Given the description of an element on the screen output the (x, y) to click on. 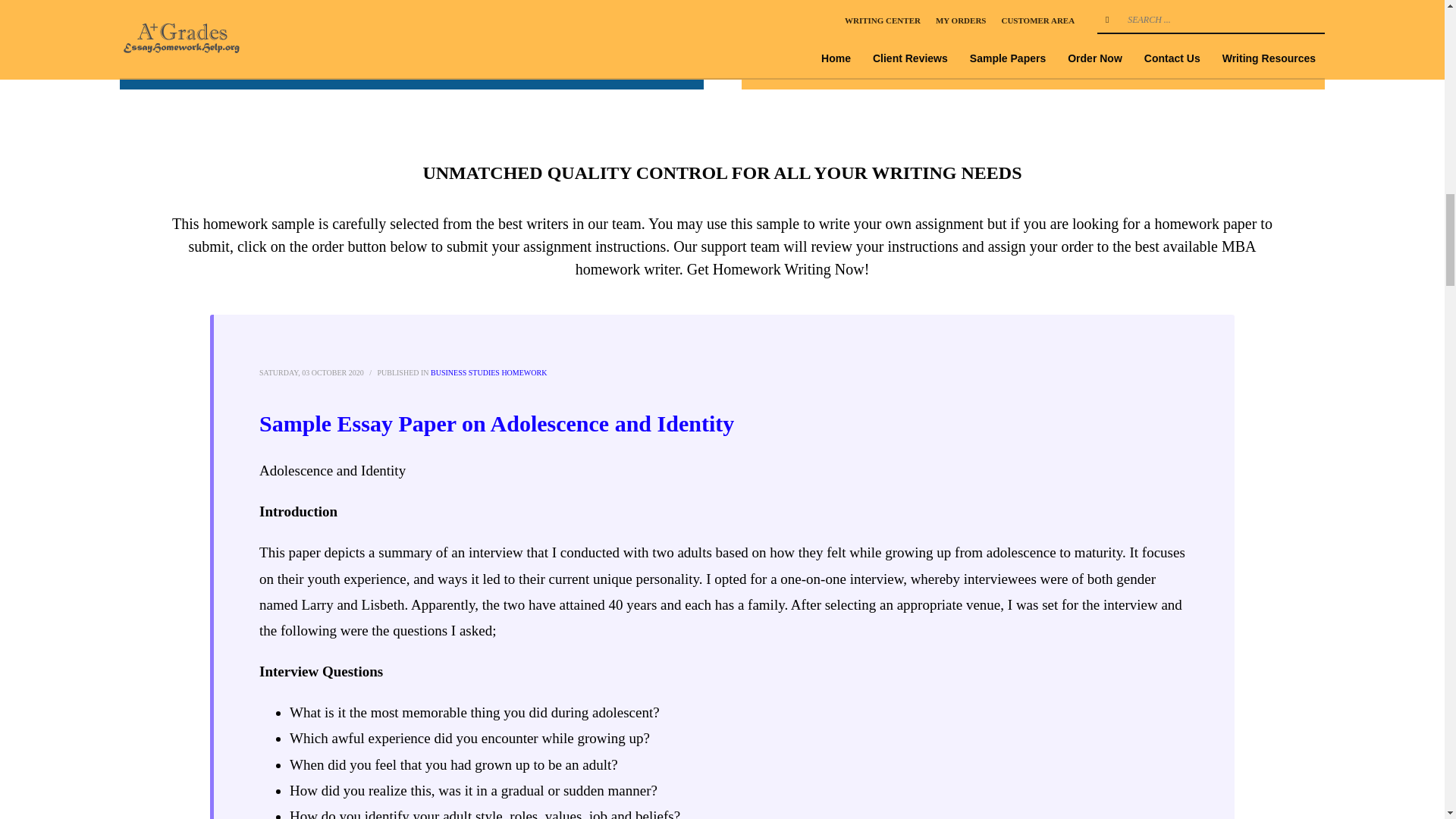
BUSINESS STUDIES HOMEWORK (488, 372)
